Given the description of an element on the screen output the (x, y) to click on. 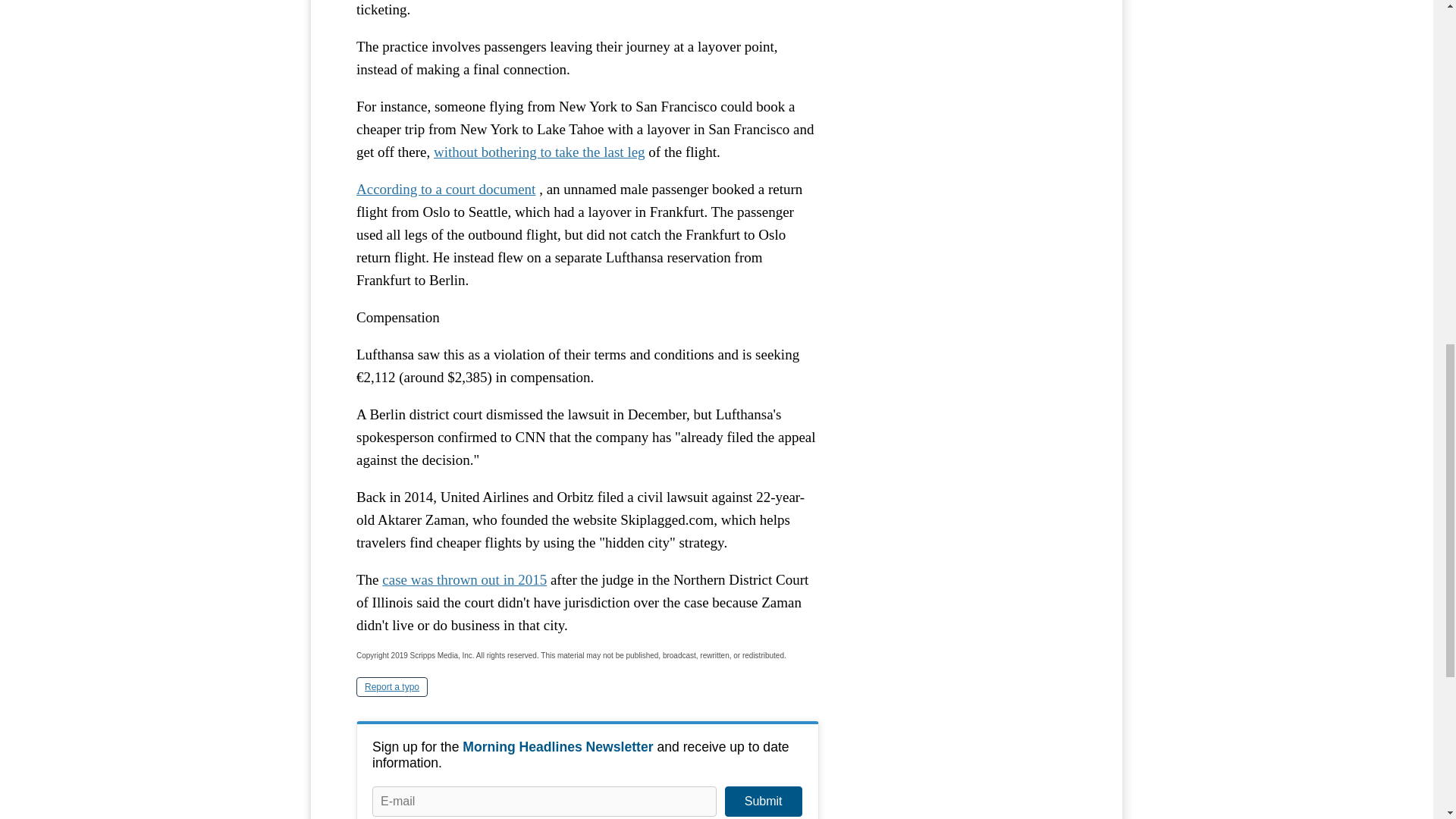
Submit (763, 801)
